Given the description of an element on the screen output the (x, y) to click on. 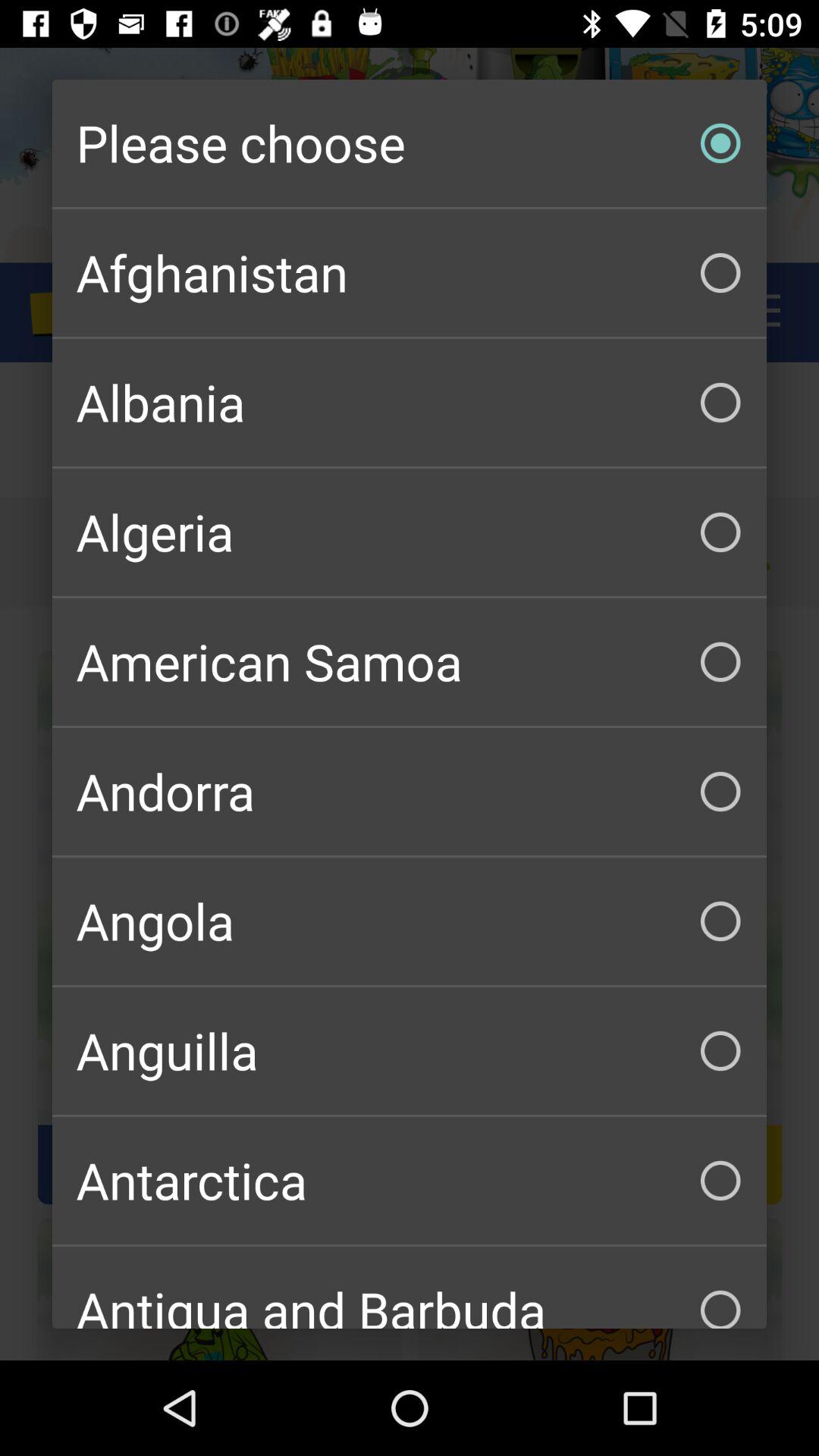
tap the antarctica item (409, 1180)
